Given the description of an element on the screen output the (x, y) to click on. 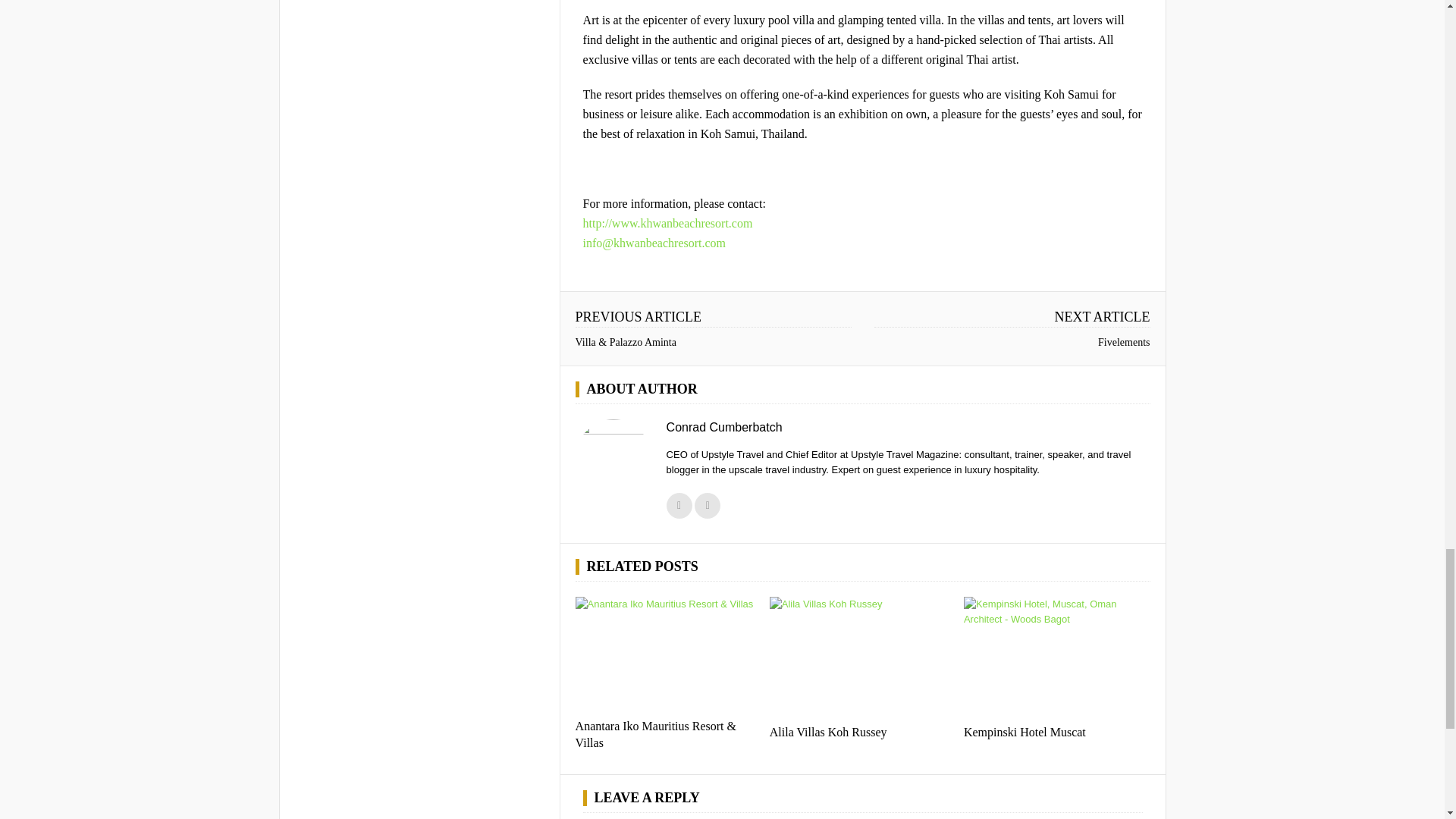
Kempinski Hotel Muscat (1056, 659)
Kempinski Hotel Muscat (1024, 731)
Alila Villas Koh Russey (828, 731)
Alila Villas Koh Russey (828, 731)
Fivelements (1123, 342)
Alila Villas Koh Russey (863, 659)
Kempinski Hotel Muscat (1024, 731)
